Given the description of an element on the screen output the (x, y) to click on. 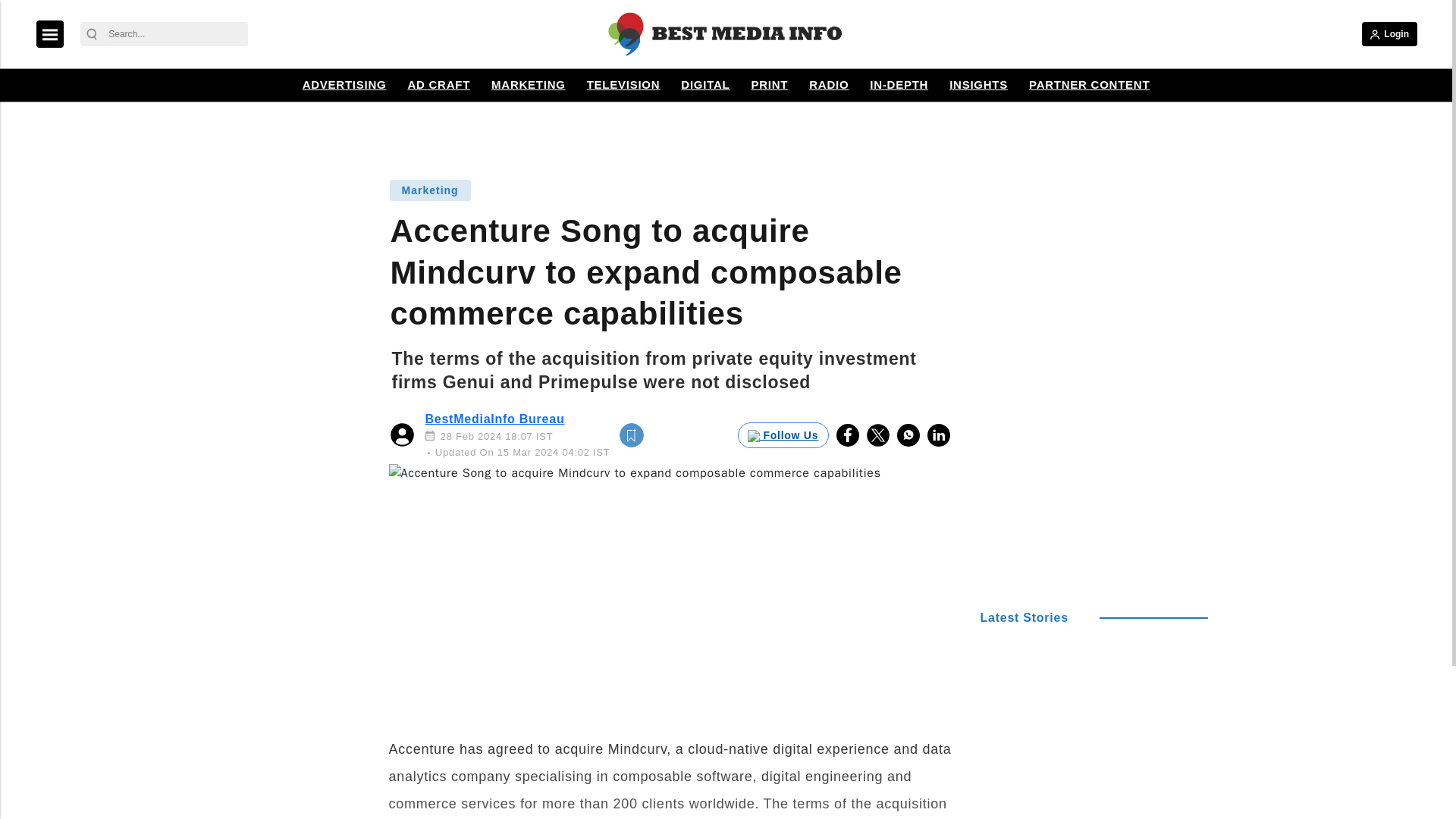
Login (1388, 33)
IN-DEPTH (898, 84)
Marketing (429, 190)
Follow Us (782, 434)
RADIO (828, 84)
AD CRAFT (438, 84)
TELEVISION (622, 84)
PARTNER CONTENT (1088, 84)
BestMediaInfo Bureau (494, 418)
MARKETING (528, 84)
PRINT (769, 84)
INSIGHTS (978, 84)
DIGITAL (705, 84)
ADVERTISING (344, 84)
